Given the description of an element on the screen output the (x, y) to click on. 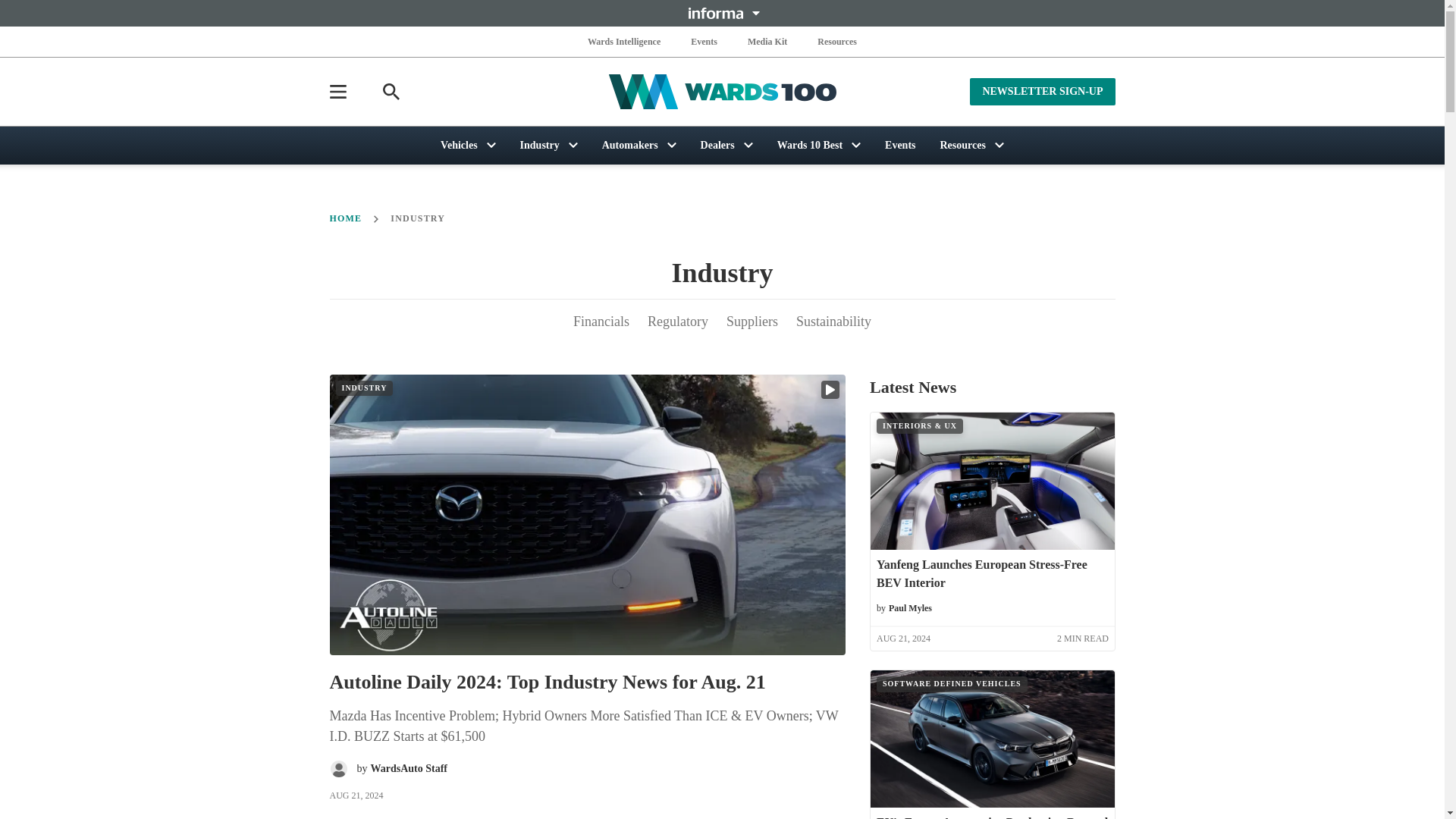
NEWSLETTER SIGN-UP (1042, 90)
Picture of WardsAuto Staff (338, 769)
Resources (836, 41)
Wards Intelligence (624, 41)
Wards Auto 100 Logo (721, 91)
Events (703, 41)
Media Kit (767, 41)
Link to all video (829, 389)
